Given the description of an element on the screen output the (x, y) to click on. 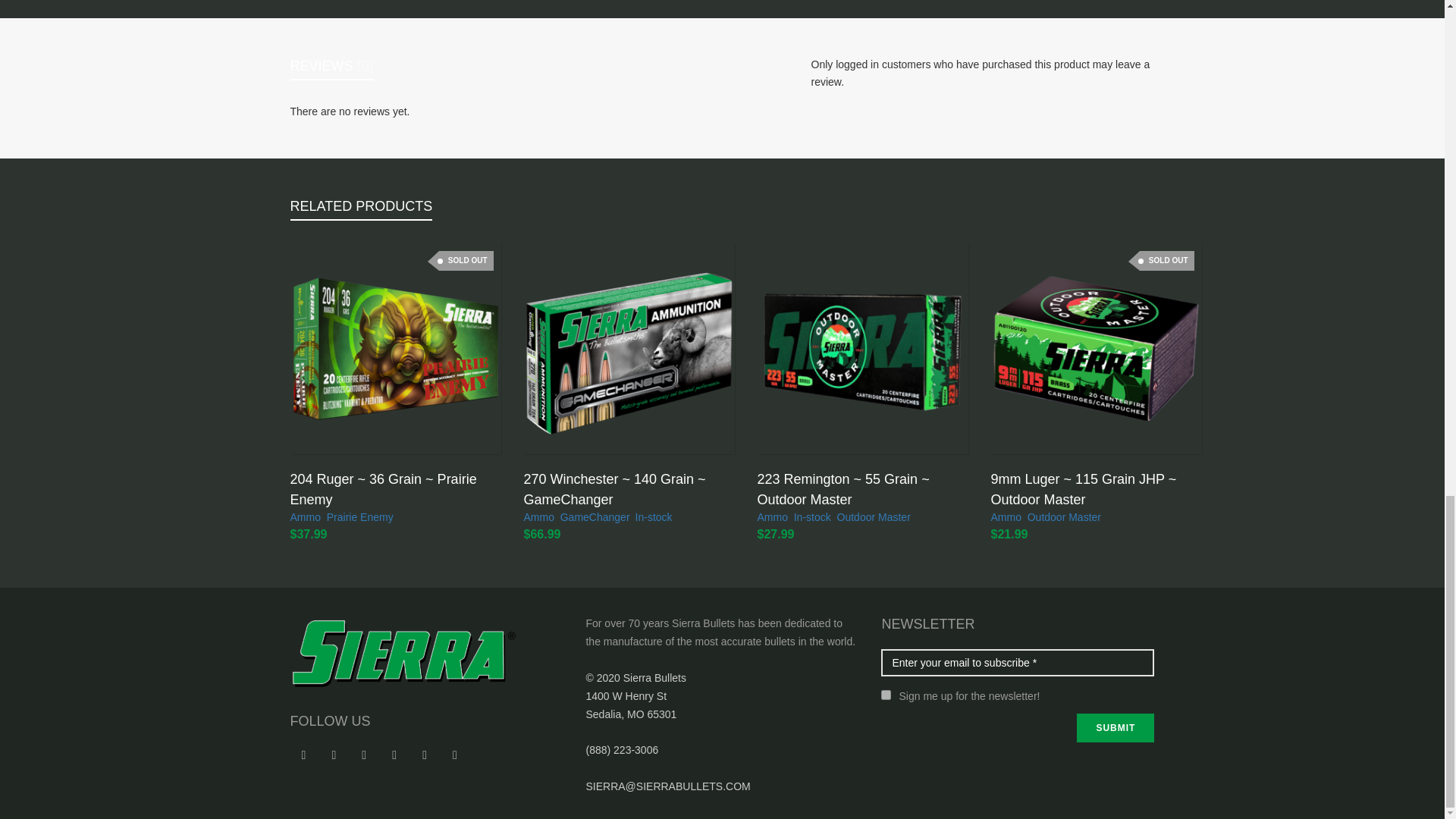
1 (885, 695)
Submit (1115, 727)
